Given the description of an element on the screen output the (x, y) to click on. 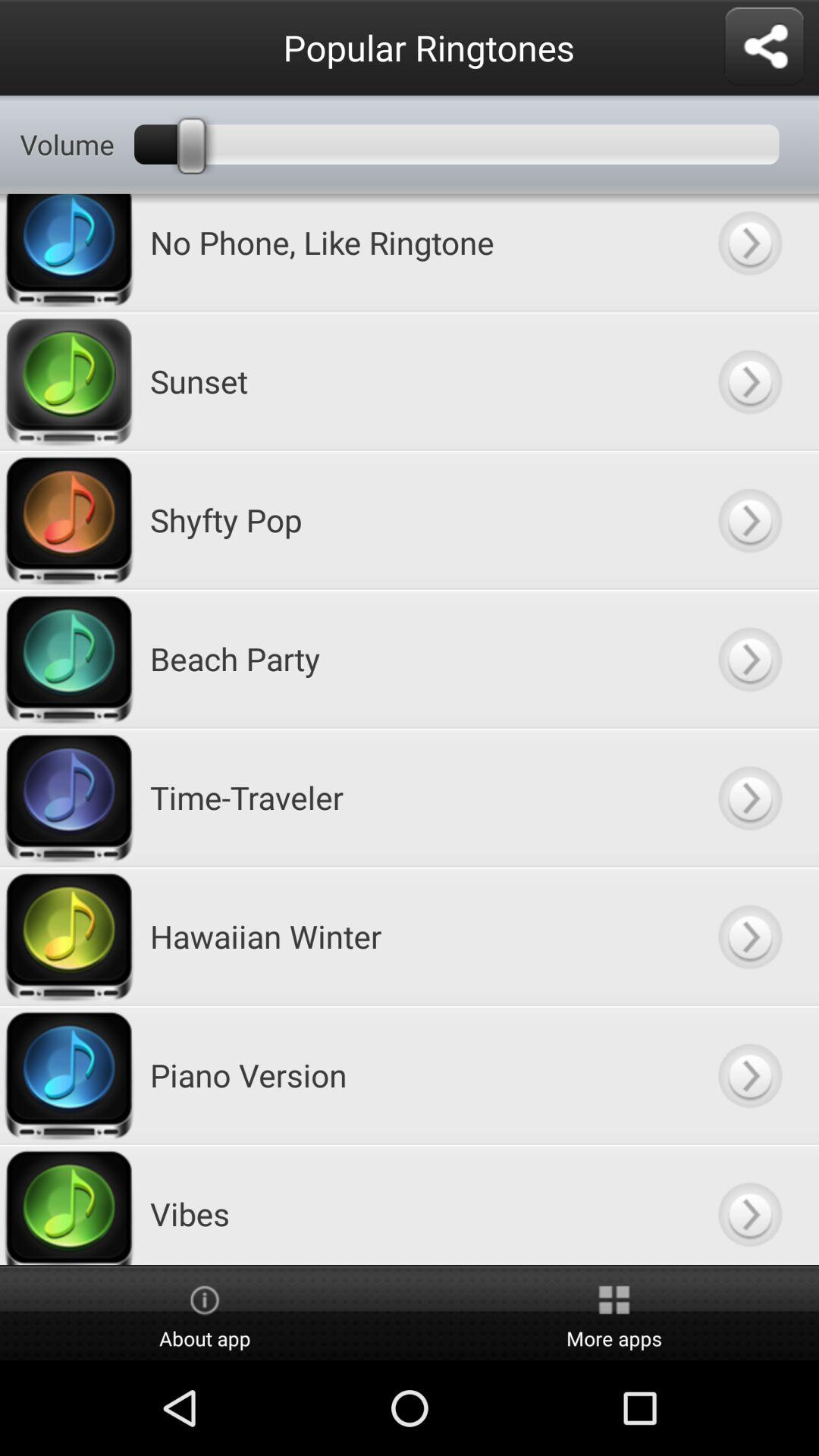
play ringtone (749, 381)
